Given the description of an element on the screen output the (x, y) to click on. 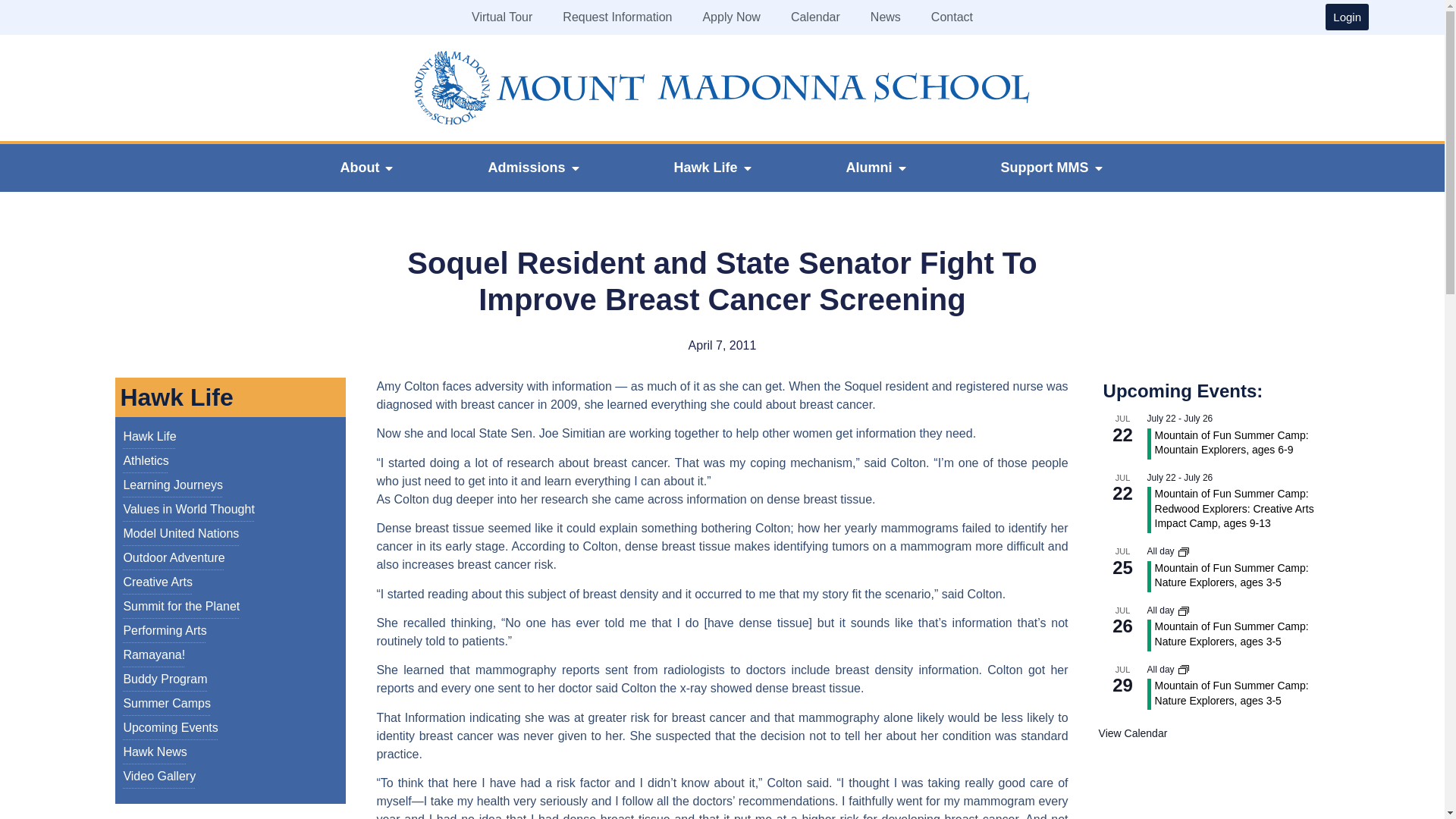
Event Series (1183, 610)
Event Series (1183, 669)
About (358, 168)
Hawk Life (704, 168)
Login (1346, 17)
Request Information (617, 17)
Apply Now (730, 17)
Alumni (868, 168)
Contact (951, 17)
Virtual Tour (502, 17)
News (885, 17)
Event Series (1183, 551)
Admissions (525, 168)
Calendar (816, 17)
